Given the description of an element on the screen output the (x, y) to click on. 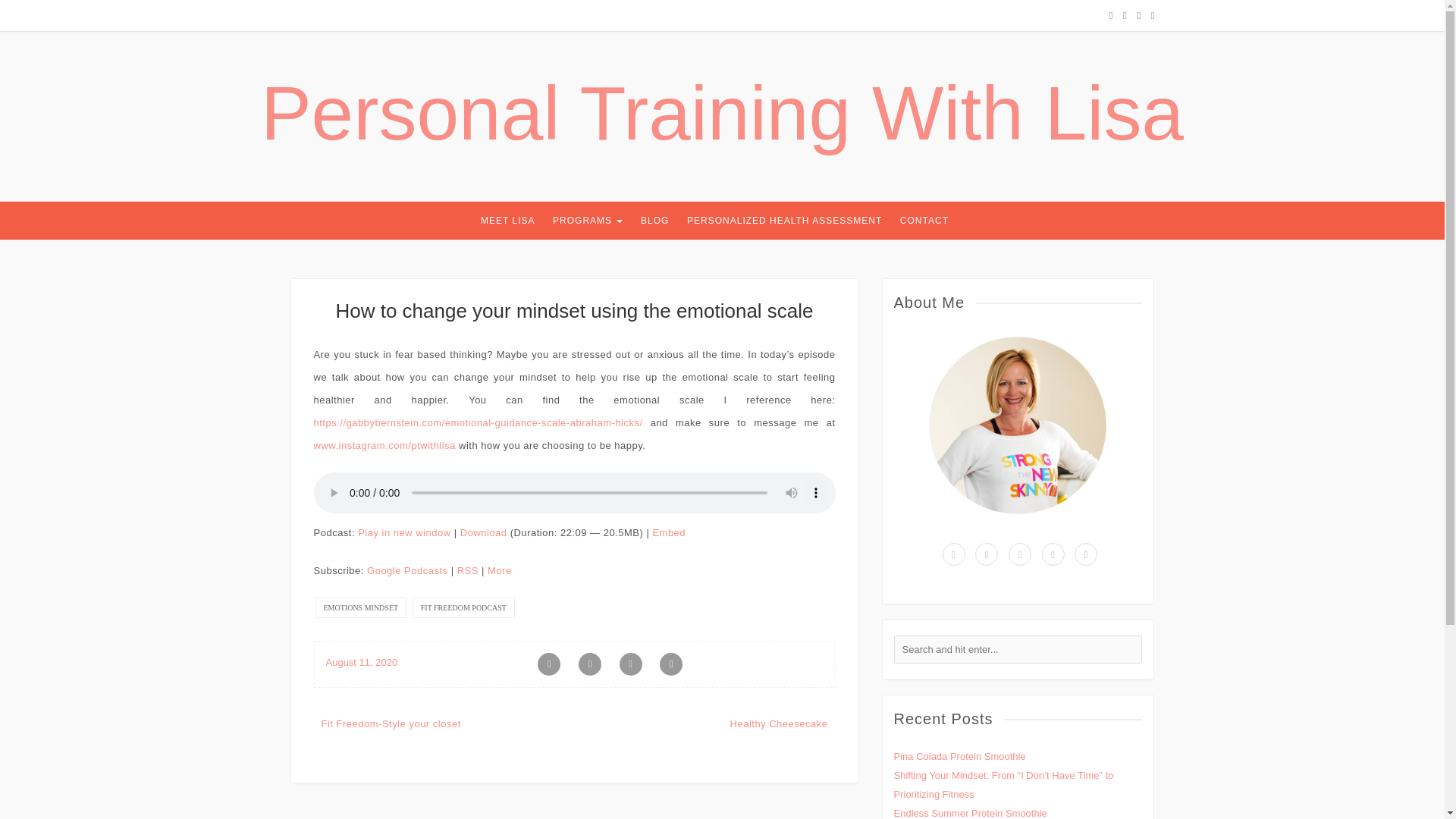
Embed (668, 532)
EMOTIONS MINDSET (361, 607)
Download (483, 532)
Fit Freedom-Style your closet (391, 723)
Healthy Cheesecake (779, 723)
MEET LISA (507, 220)
FIT FREEDOM PODCAST (463, 607)
Play in new window (403, 532)
Endless Summer Protein Smoothie (969, 813)
Personalized Health Assessment (784, 220)
